Given the description of an element on the screen output the (x, y) to click on. 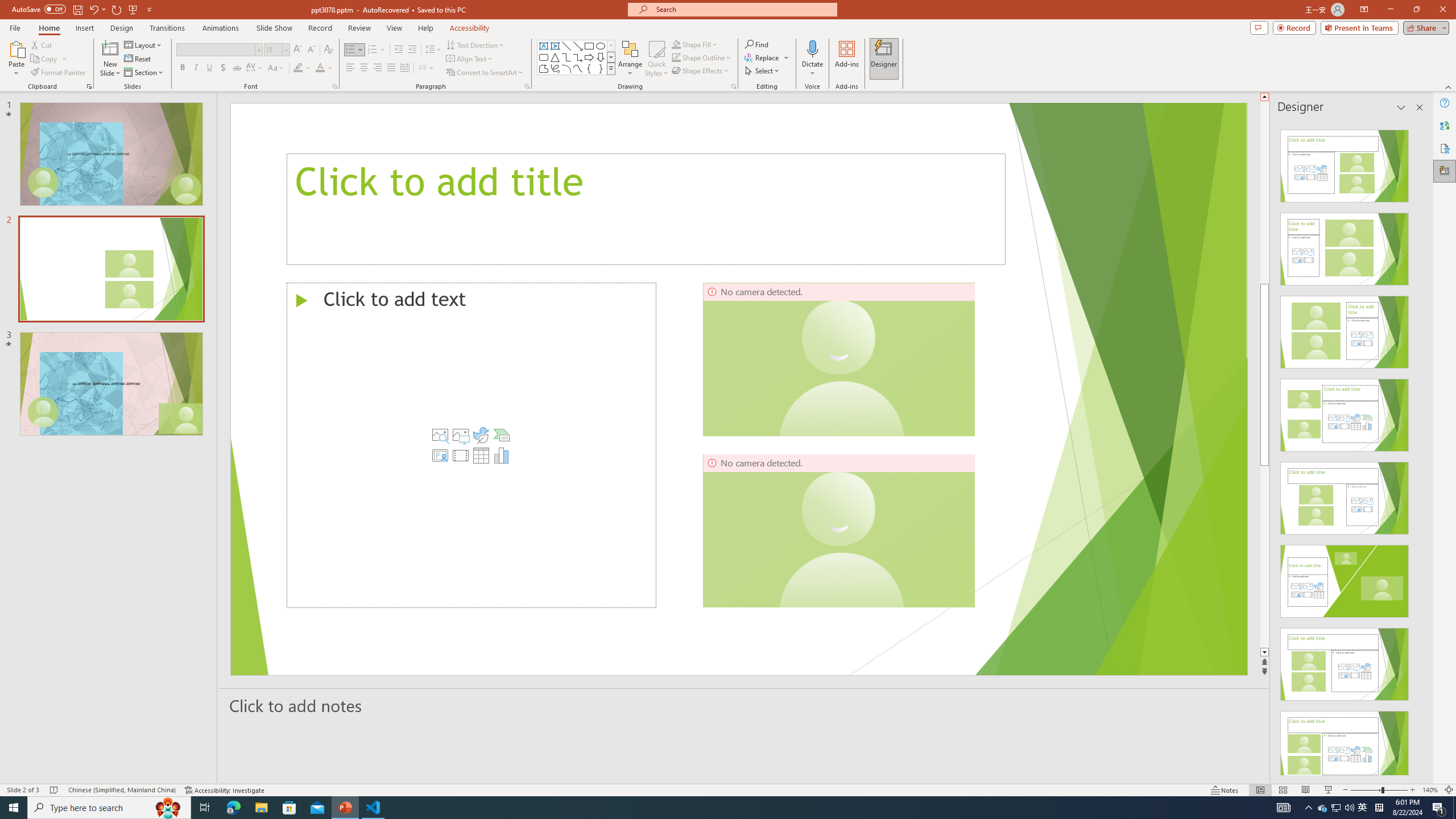
Text Highlight Color (302, 67)
Freeform: Scribble (554, 68)
Bold (182, 67)
Right Brace (600, 68)
Shadow (223, 67)
Arrange (630, 58)
Page down (1264, 556)
